Given the description of an element on the screen output the (x, y) to click on. 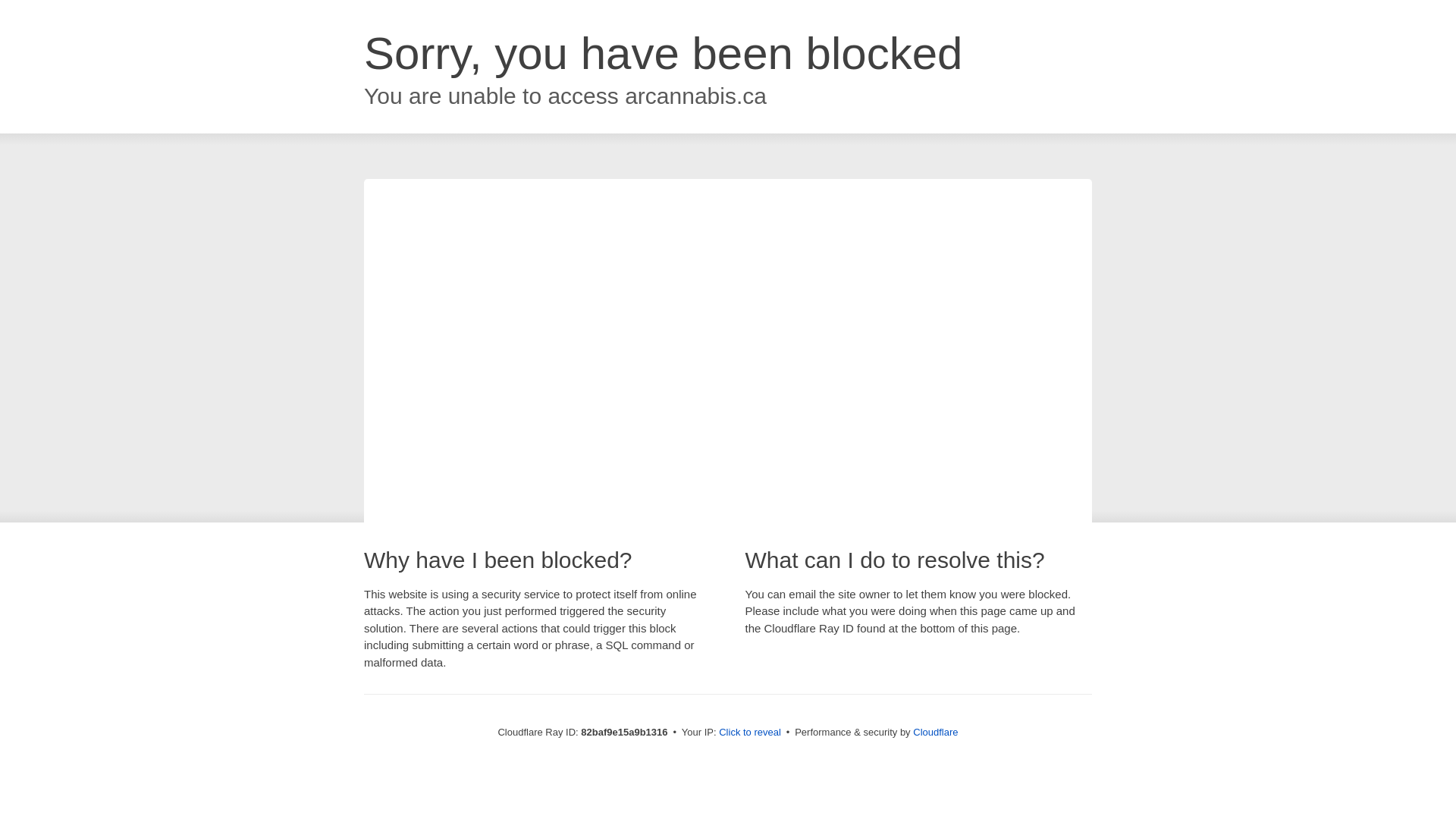
Click to reveal Element type: text (749, 732)
Cloudflare Element type: text (935, 731)
